Given the description of an element on the screen output the (x, y) to click on. 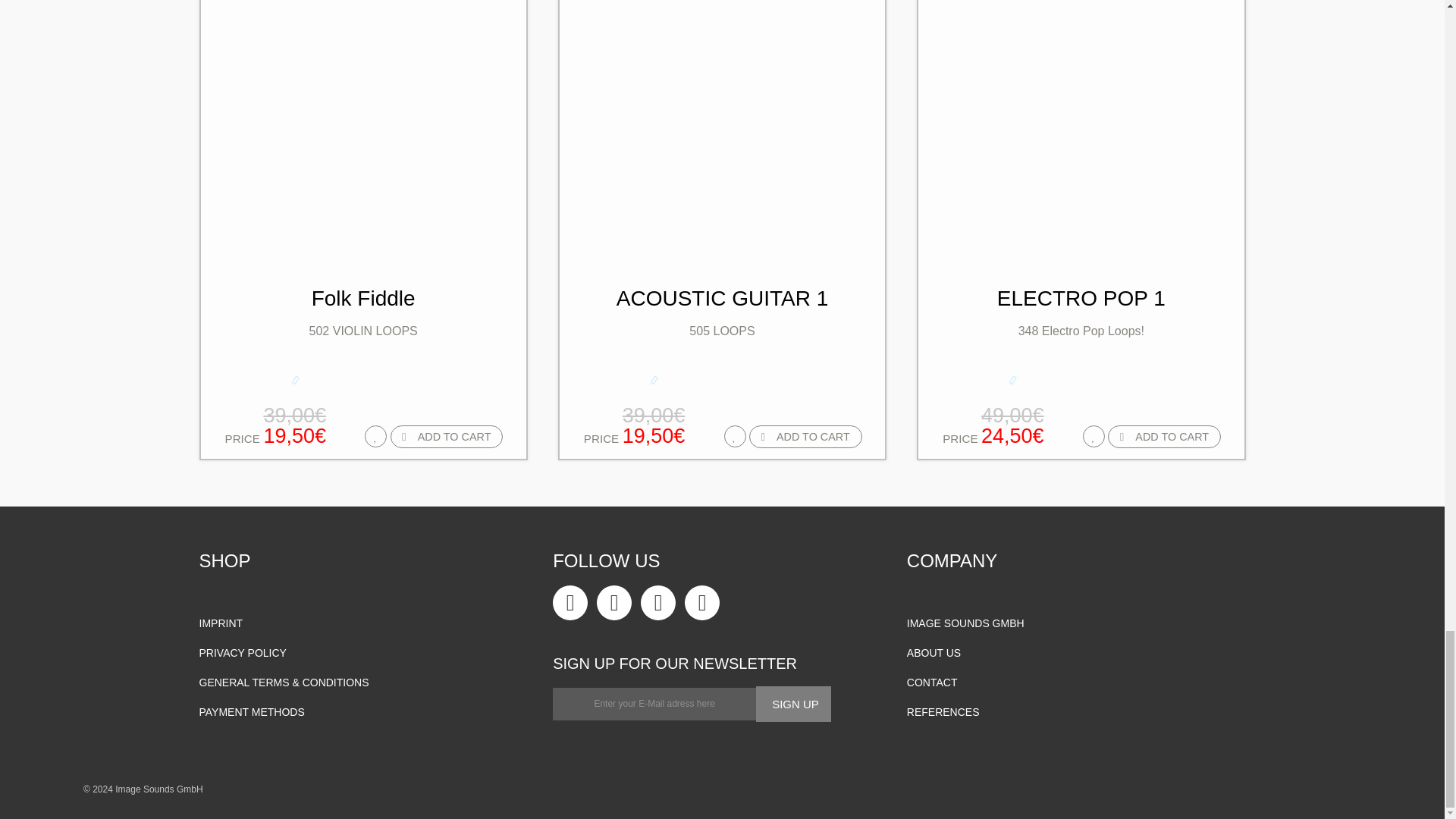
CONTACT (1076, 682)
ADD TO CART (1164, 436)
SIGN UP (362, 179)
IMPRINT (793, 703)
PRIVACY POLICY (1080, 179)
ADD TO CART (367, 623)
ABOUT US (367, 652)
